Given the description of an element on the screen output the (x, y) to click on. 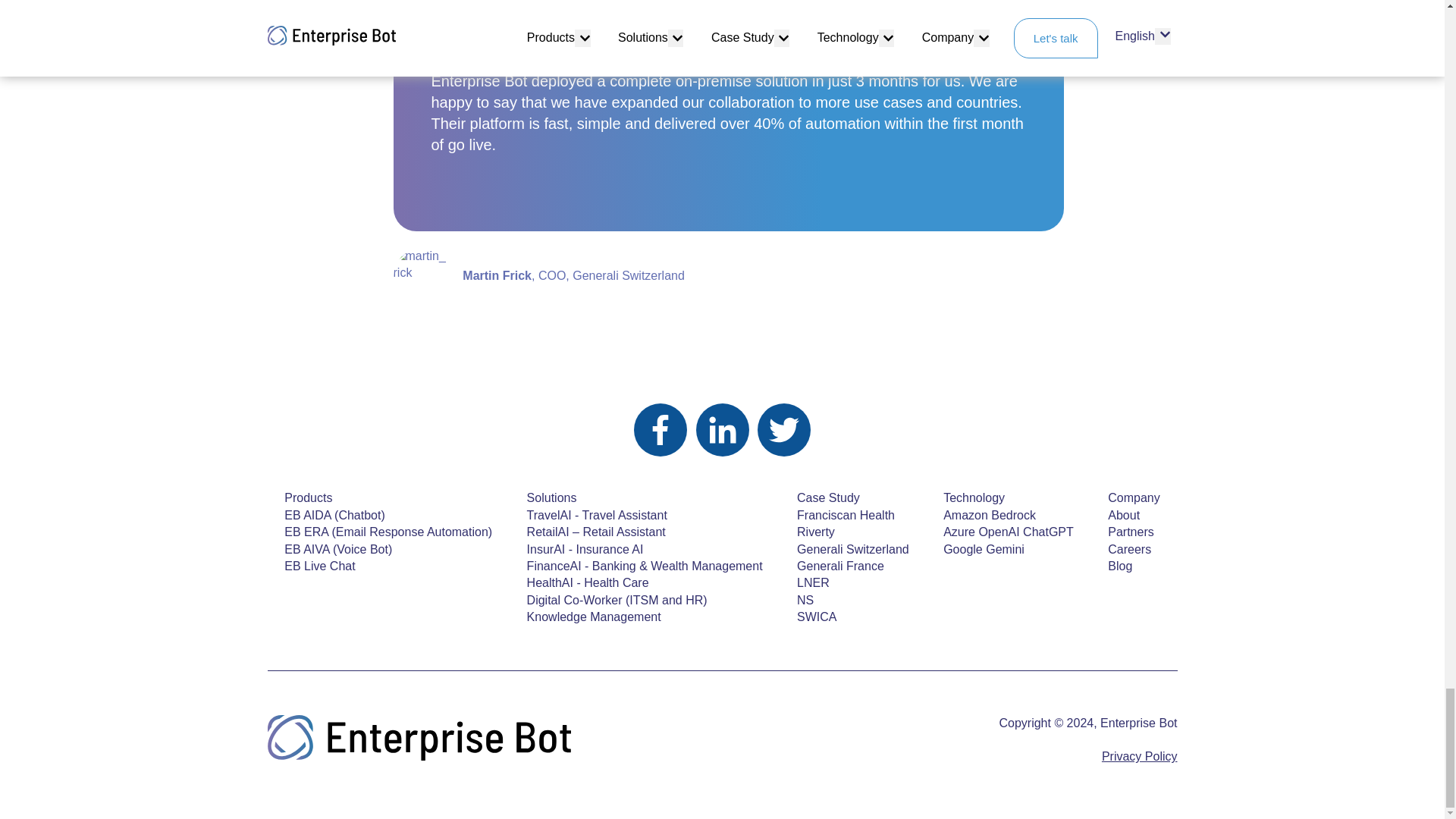
logo (418, 737)
